Given the description of an element on the screen output the (x, y) to click on. 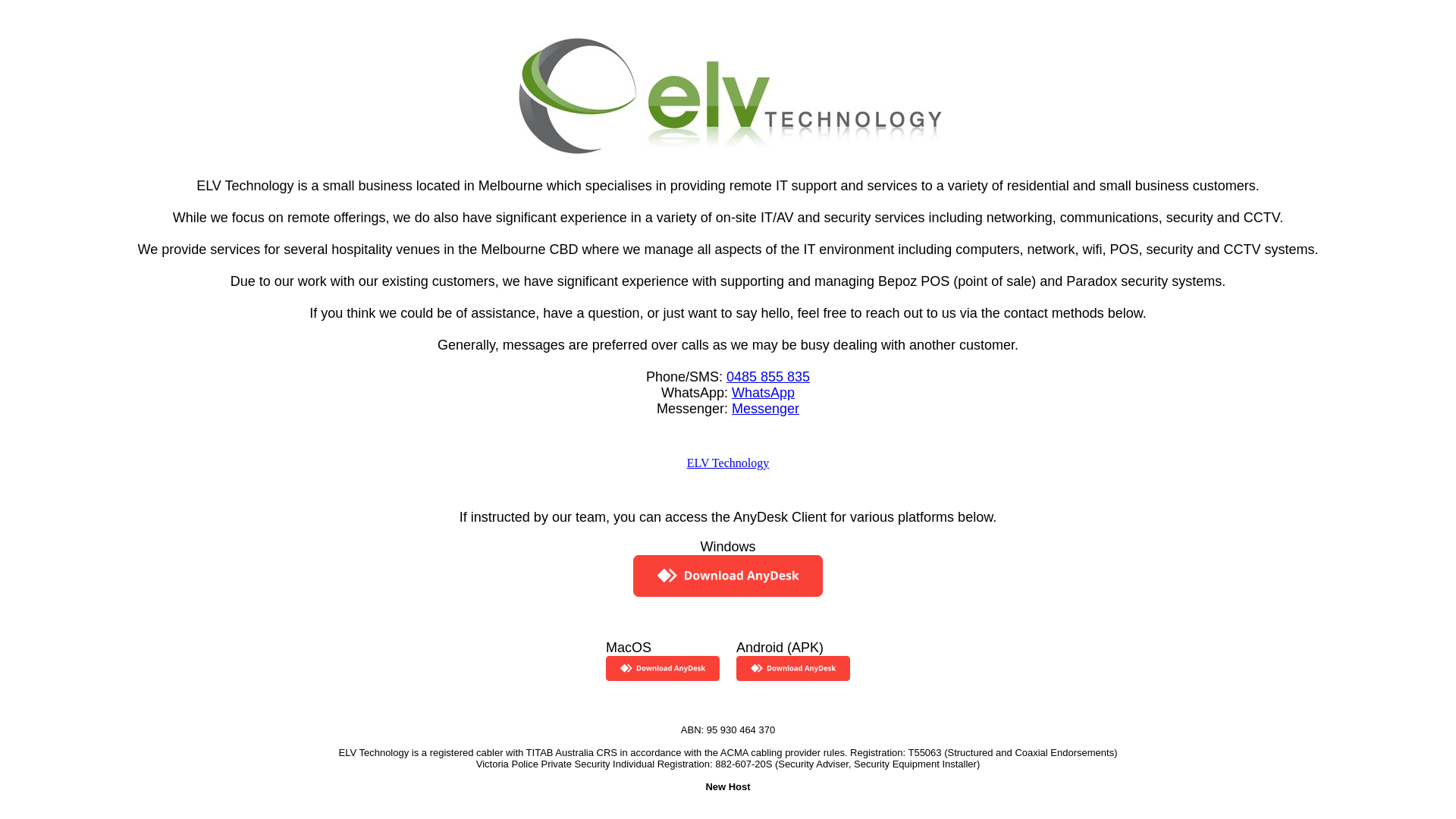
0485 855 835 Element type: text (767, 375)
ELV Technology Element type: text (727, 462)
WhatsApp Element type: text (762, 392)
Messenger Element type: text (765, 407)
